Given the description of an element on the screen output the (x, y) to click on. 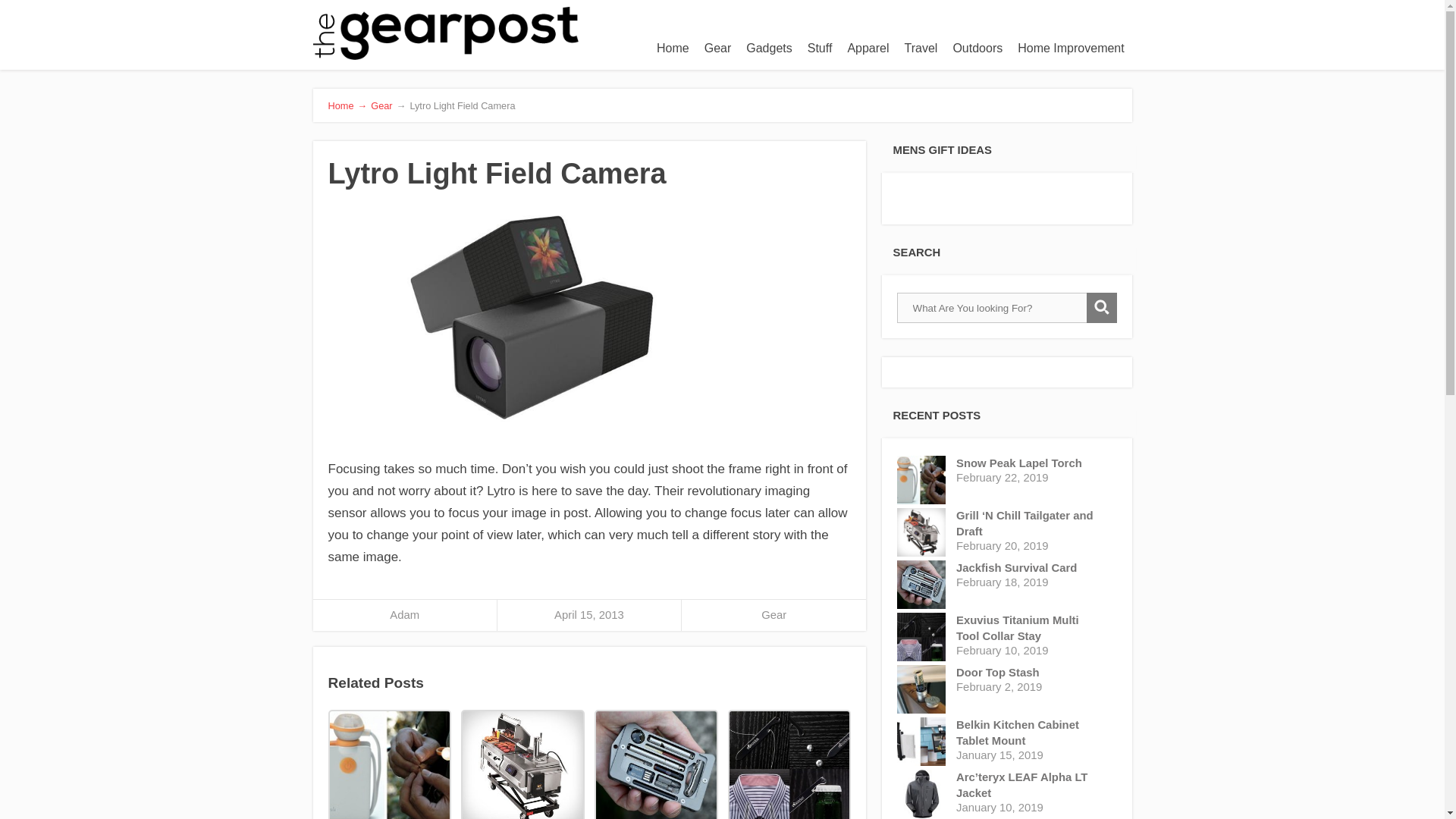
Belkin Kitchen Cabinet Tablet Mount (1029, 733)
Apparel (868, 48)
Gadgets (768, 48)
Stuff (819, 48)
Home Improvement (1071, 48)
Home (673, 48)
Jackfish Survival Card (1029, 568)
Outdoors (977, 48)
Gear (381, 105)
Exuvius Titanium Multi Tool Collar Stay (1029, 628)
Adam (404, 614)
Snow Peak Lapel Torch (388, 764)
Jackfish Survival Card (655, 764)
Exuvius Titanium Multi Tool Collar Stay (789, 764)
Snow Peak Lapel Torch (1029, 463)
